Given the description of an element on the screen output the (x, y) to click on. 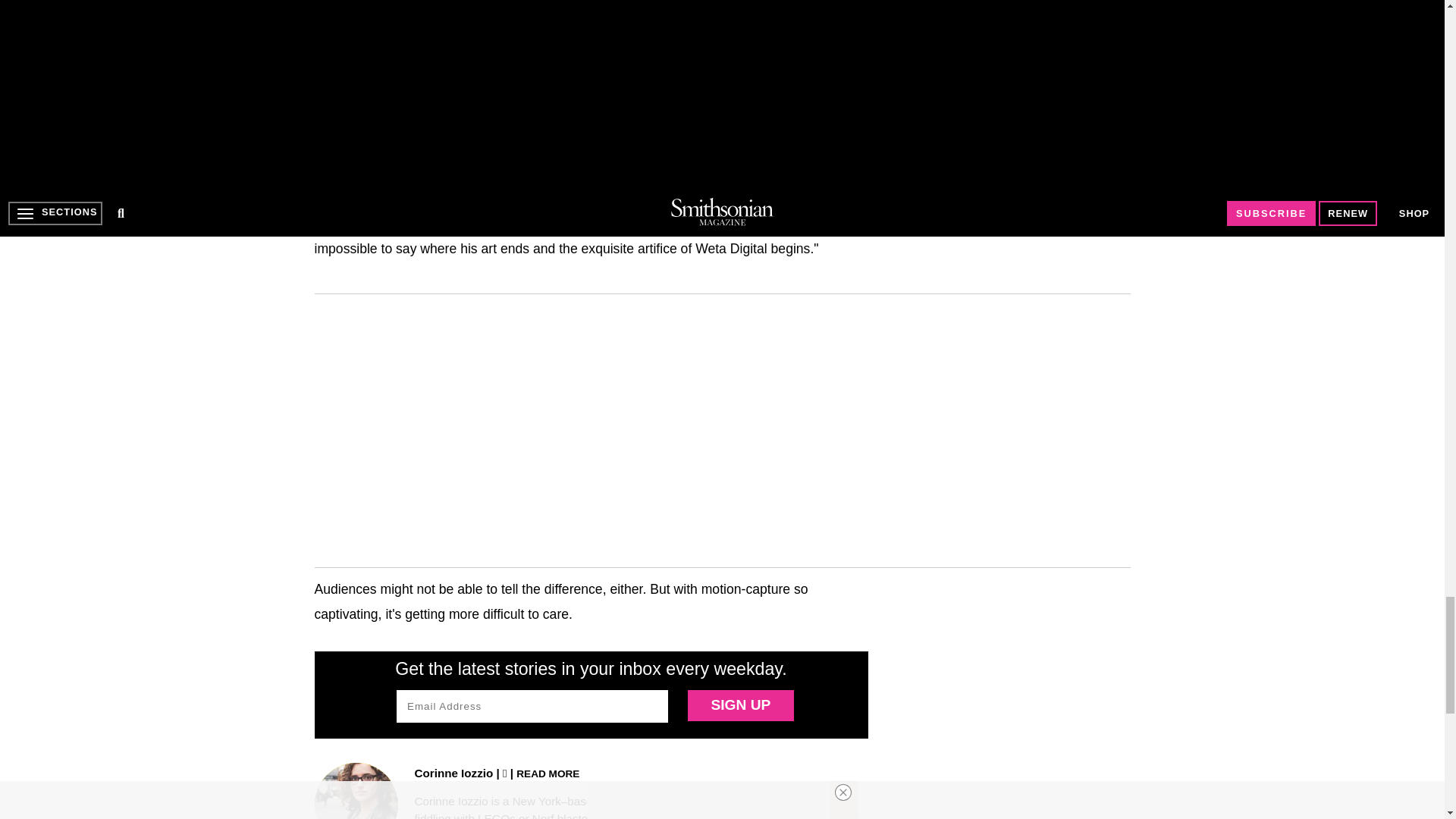
Read more from this author (547, 772)
Sign Up (740, 705)
